Given the description of an element on the screen output the (x, y) to click on. 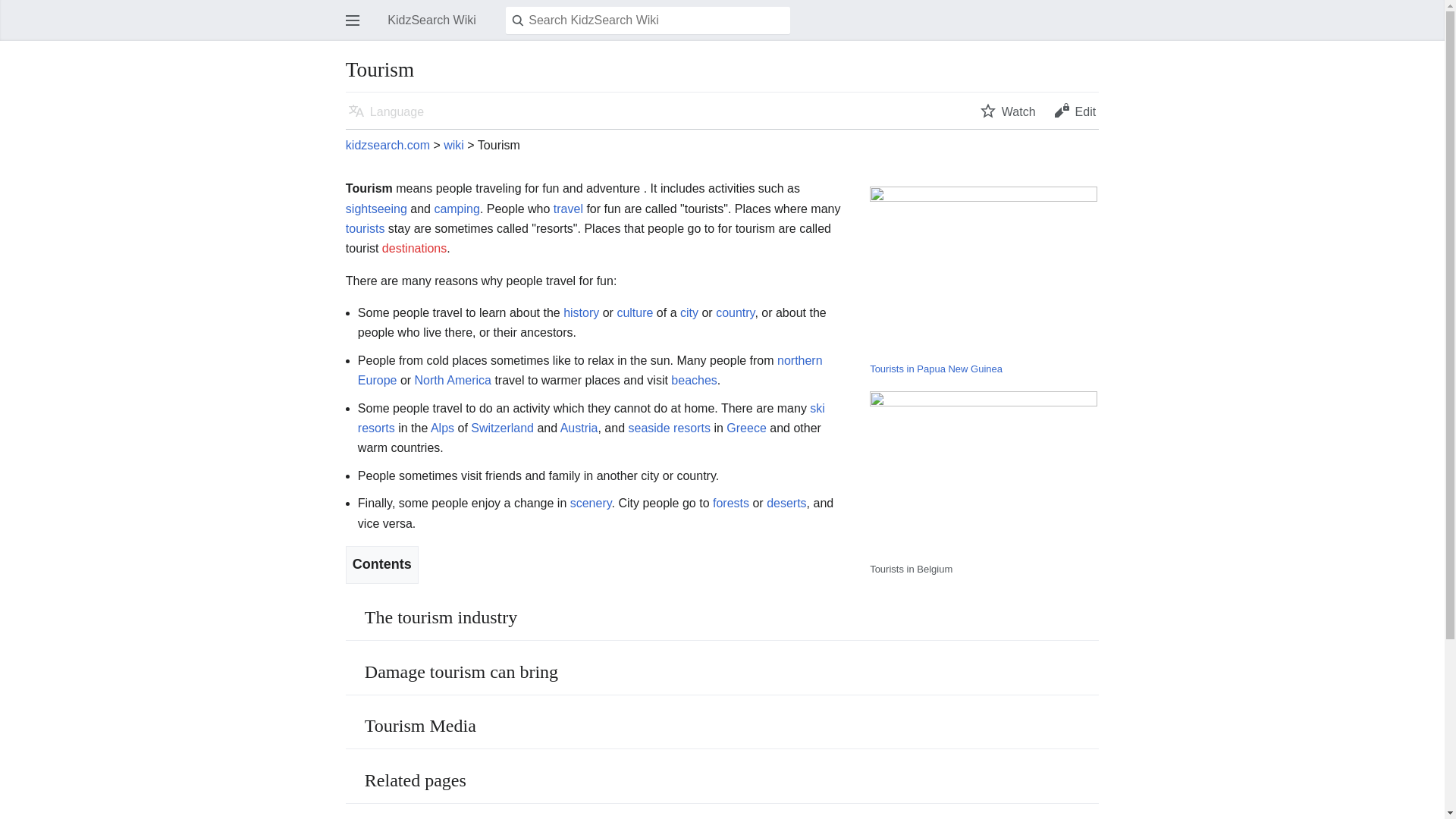
wiki (454, 144)
Open main menu (352, 20)
destinations (413, 247)
seaside resorts (668, 427)
history (580, 312)
Greece (745, 427)
Switzerland (502, 427)
Sightseeing (376, 208)
Beach (694, 379)
Language (385, 110)
Northern Europe (590, 369)
northern Europe (590, 369)
city (688, 312)
North America (453, 379)
Edit (1075, 110)
